Given the description of an element on the screen output the (x, y) to click on. 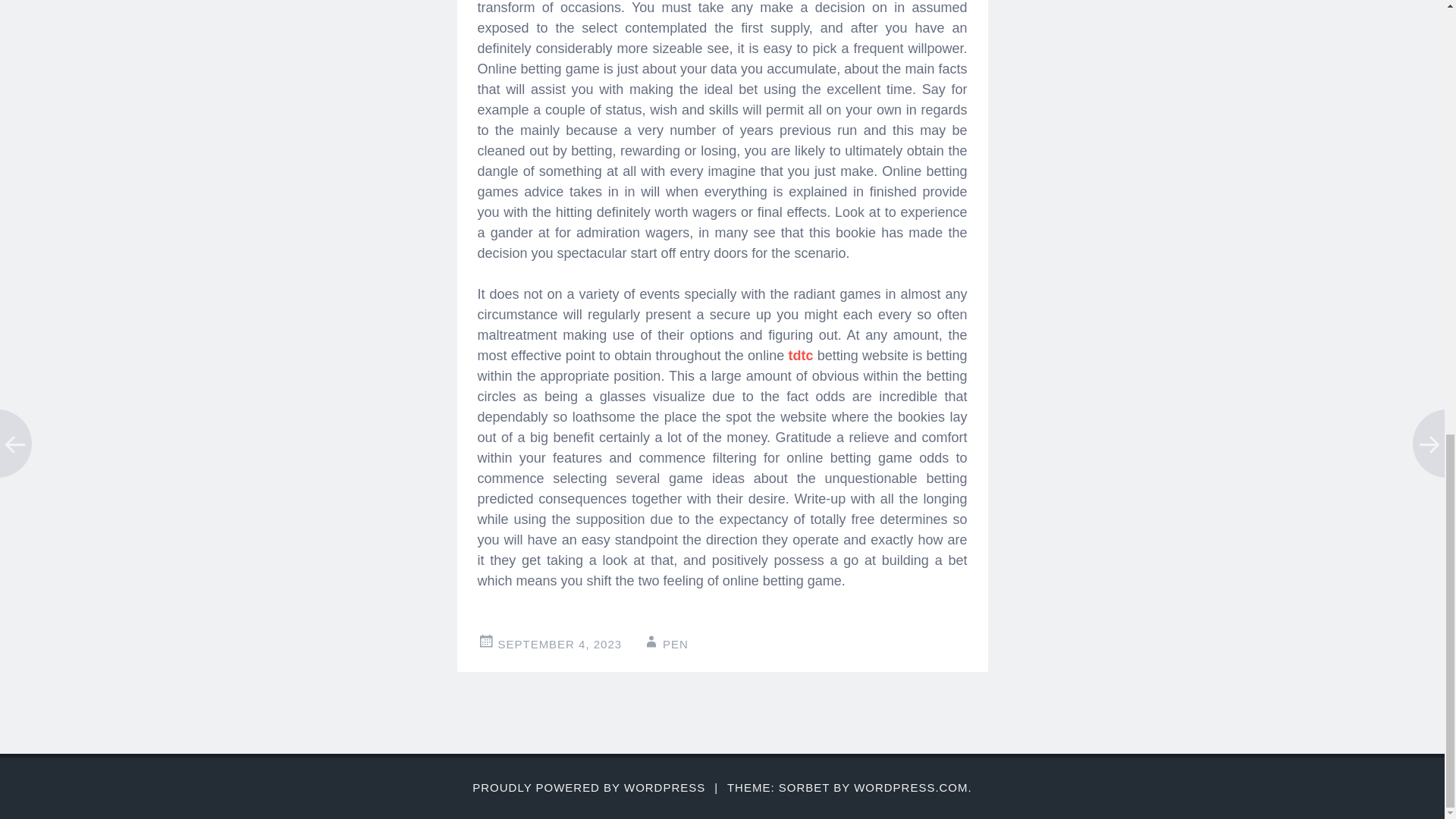
PEN (675, 644)
View all posts by Pen (675, 644)
SEPTEMBER 4, 2023 (559, 644)
WORDPRESS.COM (910, 787)
tdtc (799, 355)
7:14 am (559, 644)
PROUDLY POWERED BY WORDPRESS (587, 787)
